Given the description of an element on the screen output the (x, y) to click on. 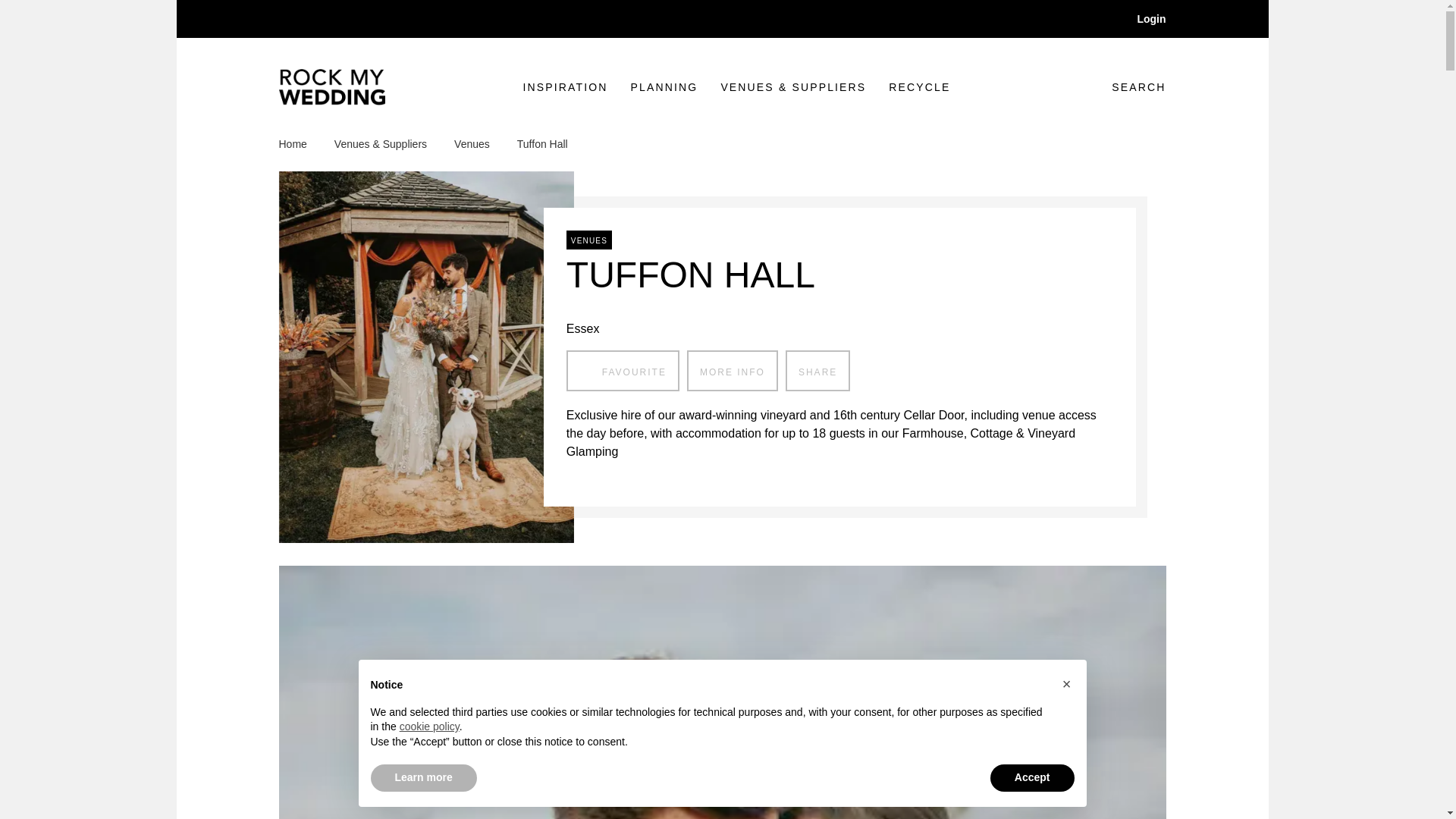
Login (1140, 18)
Tuffon Hall (1126, 86)
FAVOURITE (541, 144)
PLANNING (622, 370)
RECYCLE (664, 87)
INSPIRATION (919, 87)
SHARE (565, 87)
Home (818, 370)
MORE INFO (301, 144)
Venues (732, 370)
